Given the description of an element on the screen output the (x, y) to click on. 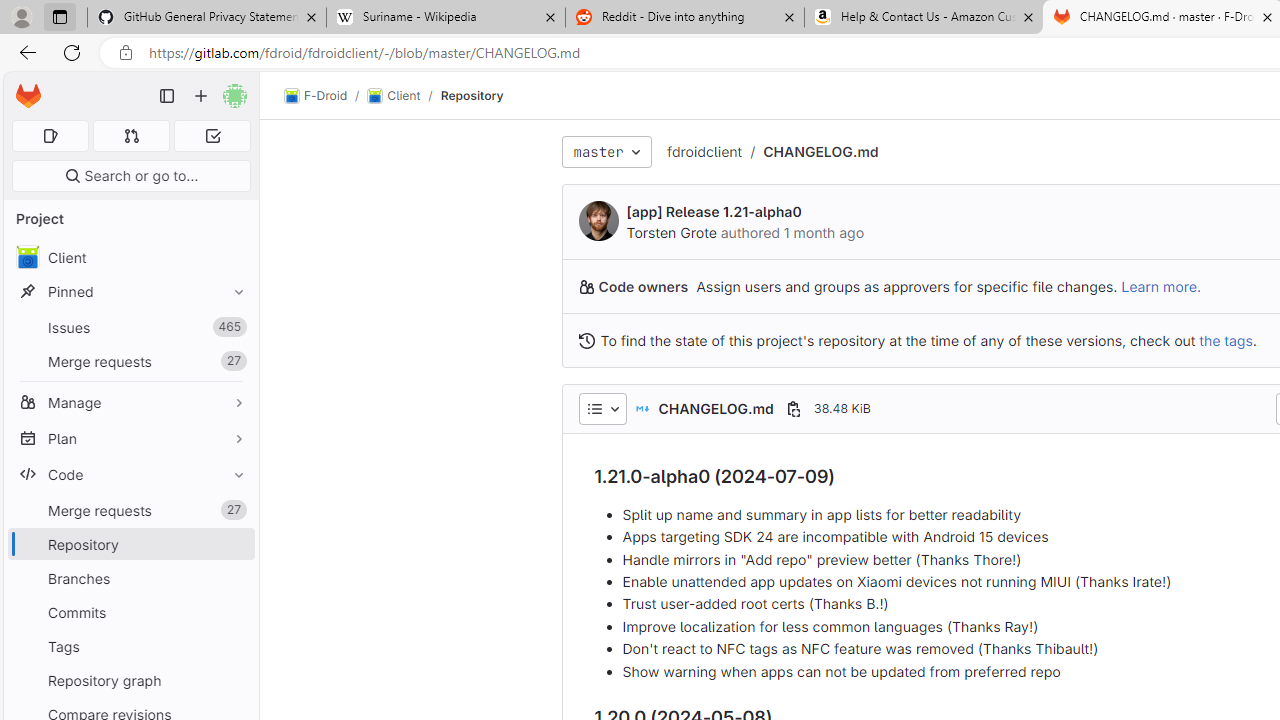
fdroidclient (703, 151)
Pin Commits (234, 611)
Client/ (404, 96)
Plan (130, 438)
Pin Tags (234, 646)
GitHub General Privacy Statement - GitHub Docs (207, 17)
avatar Client (130, 257)
/CHANGELOG.md (810, 151)
Issues 465 (130, 327)
